Given the description of an element on the screen output the (x, y) to click on. 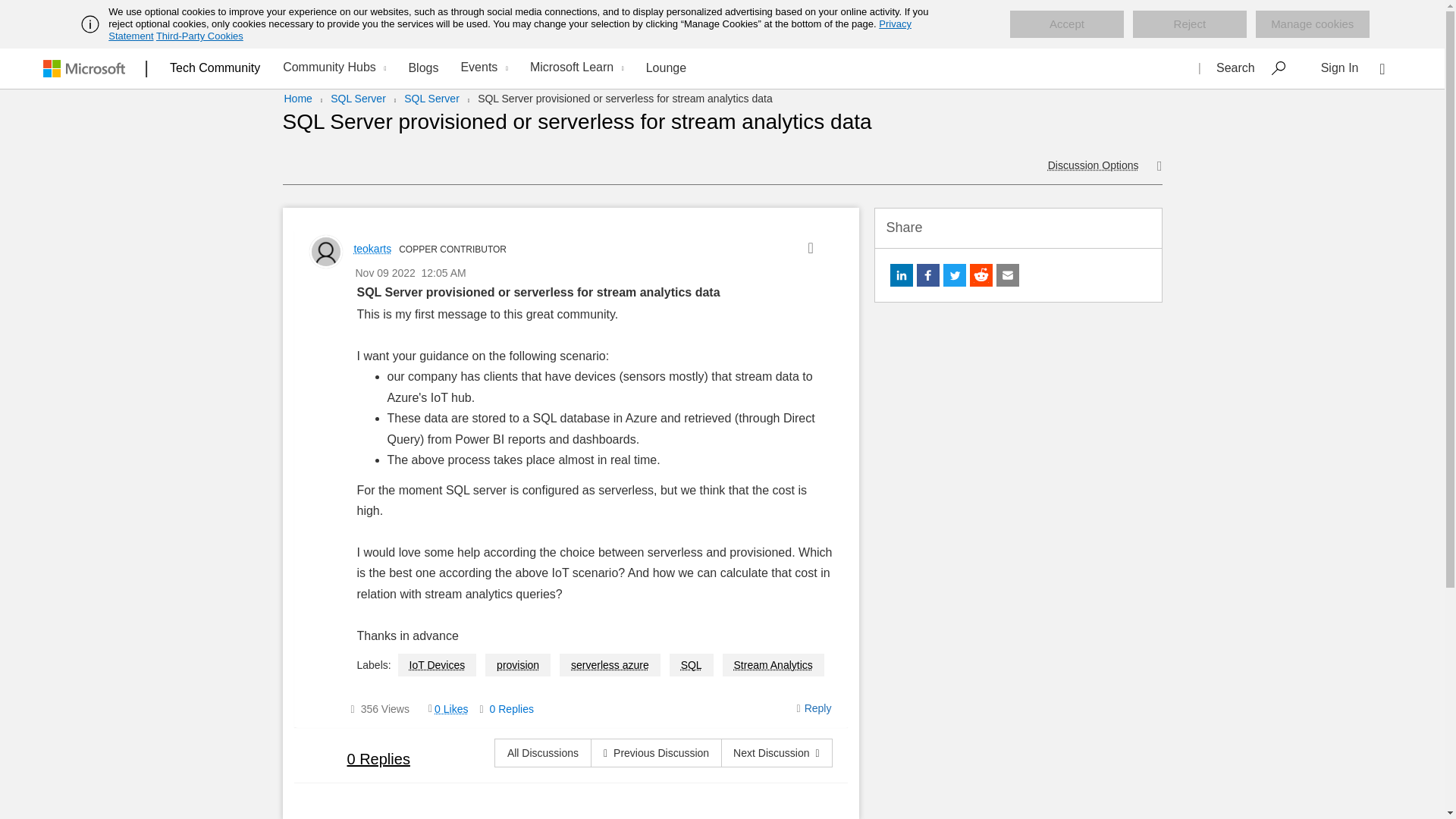
Accept (1067, 23)
Tech Community (215, 67)
Manage cookies (1312, 23)
Third-Party Cookies (199, 35)
Reject (1189, 23)
Privacy Statement (509, 29)
Community Hubs (332, 67)
